Given the description of an element on the screen output the (x, y) to click on. 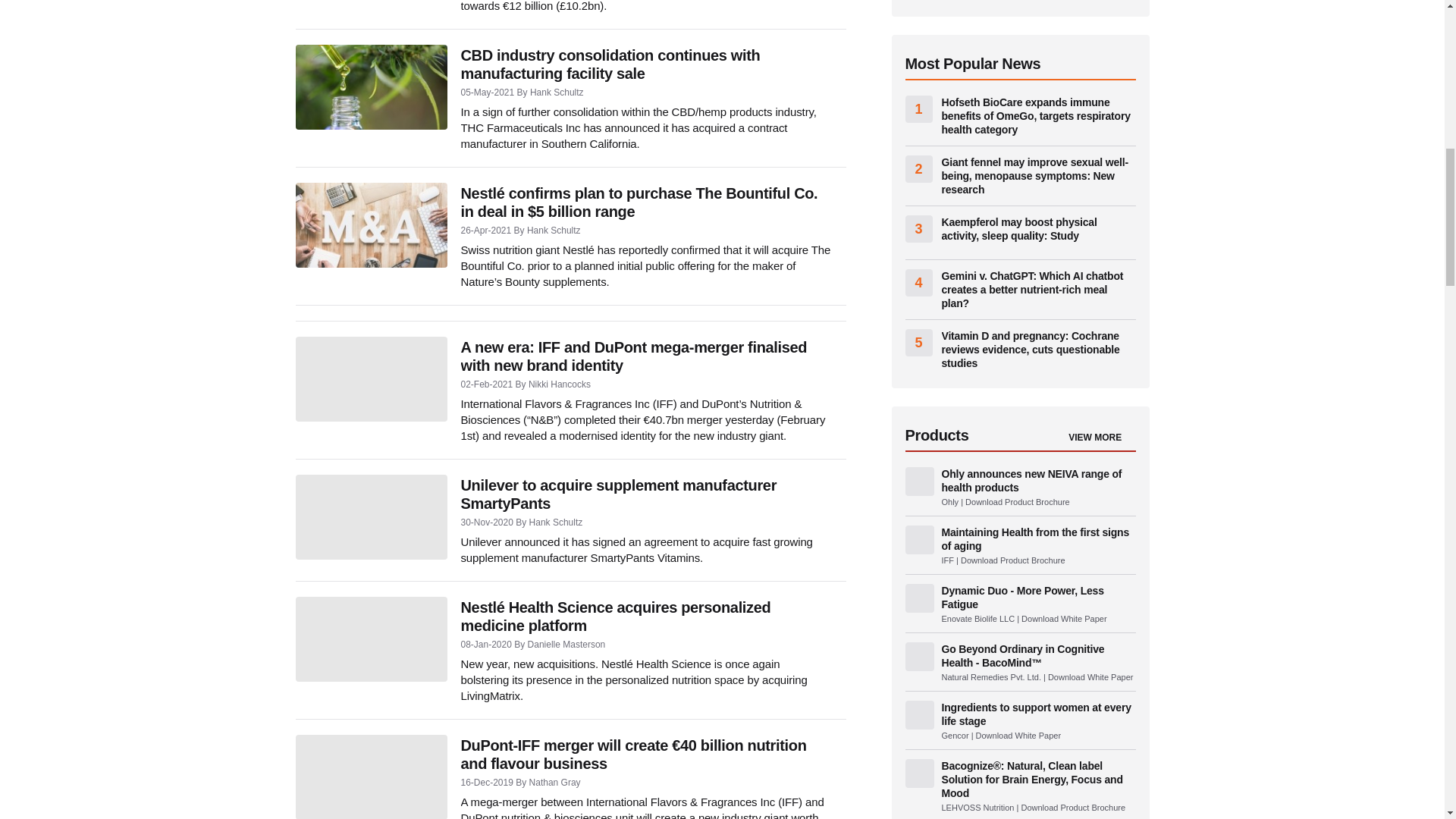
View full article (370, 224)
View full article (370, 378)
View full article (370, 639)
View full article (370, 517)
View full article (370, 87)
View full article (370, 776)
